Given the description of an element on the screen output the (x, y) to click on. 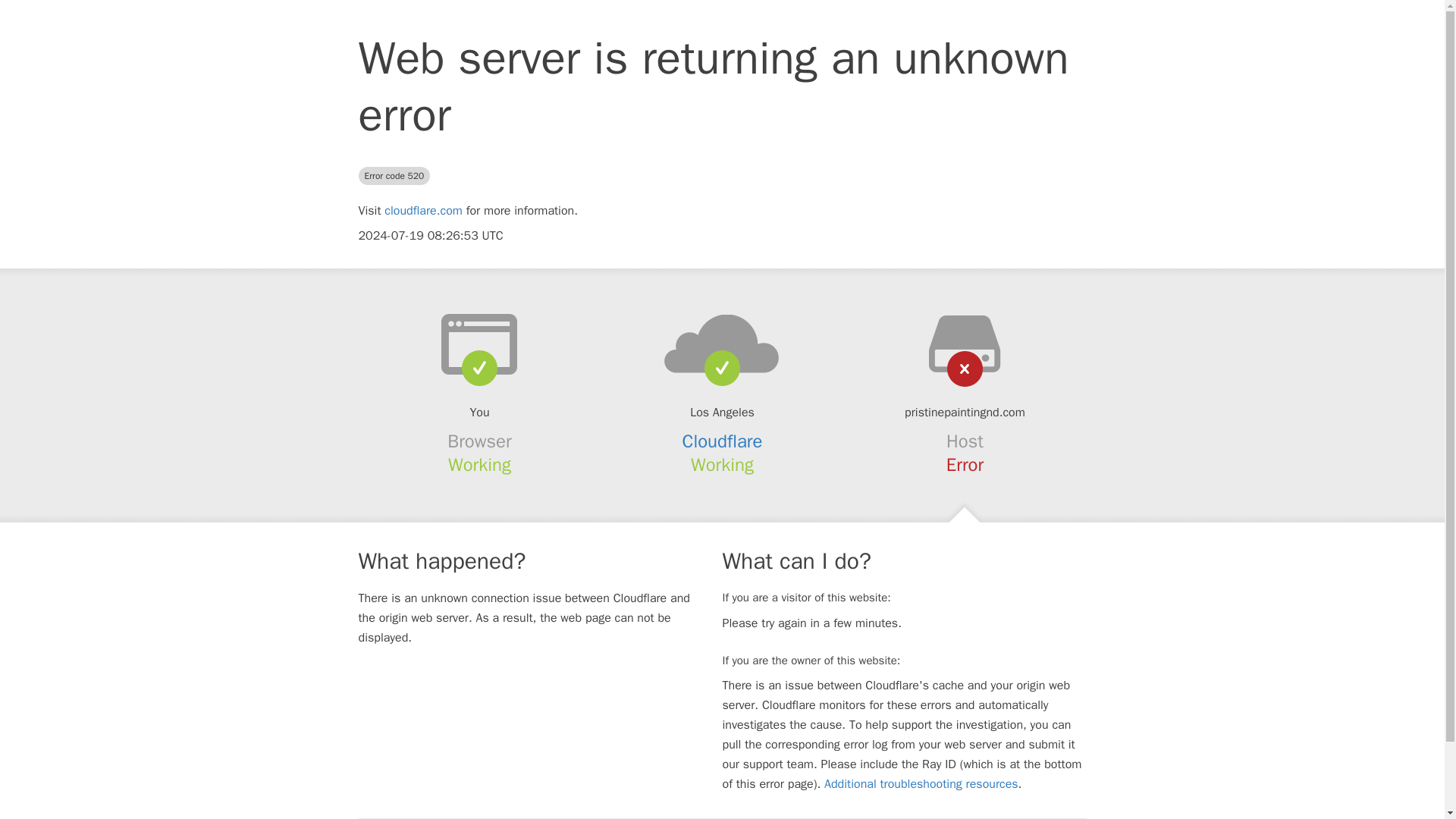
Cloudflare (722, 440)
cloudflare.com (423, 210)
Additional troubleshooting resources (920, 783)
